Given the description of an element on the screen output the (x, y) to click on. 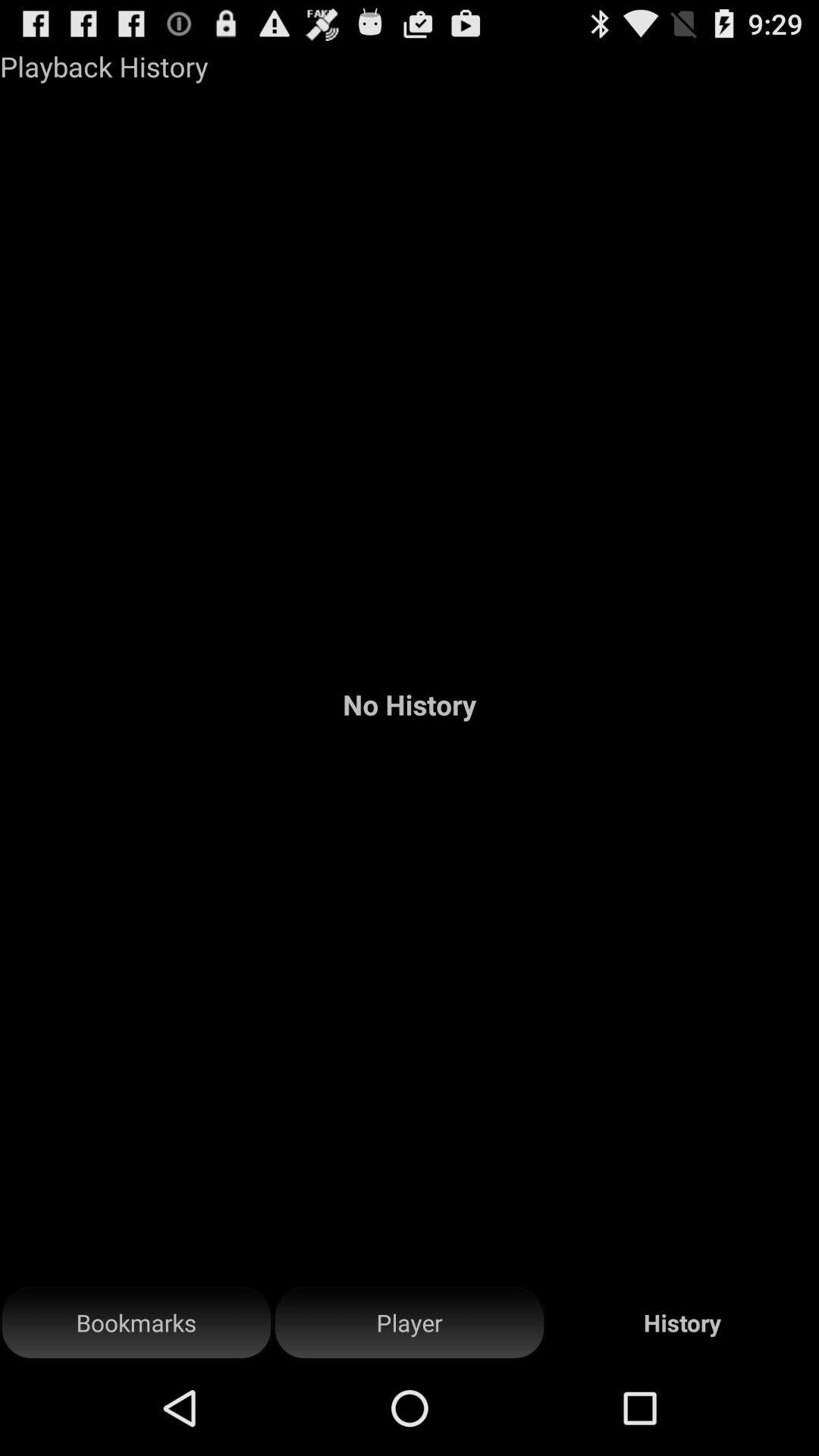
click the app below no history app (409, 1323)
